Given the description of an element on the screen output the (x, y) to click on. 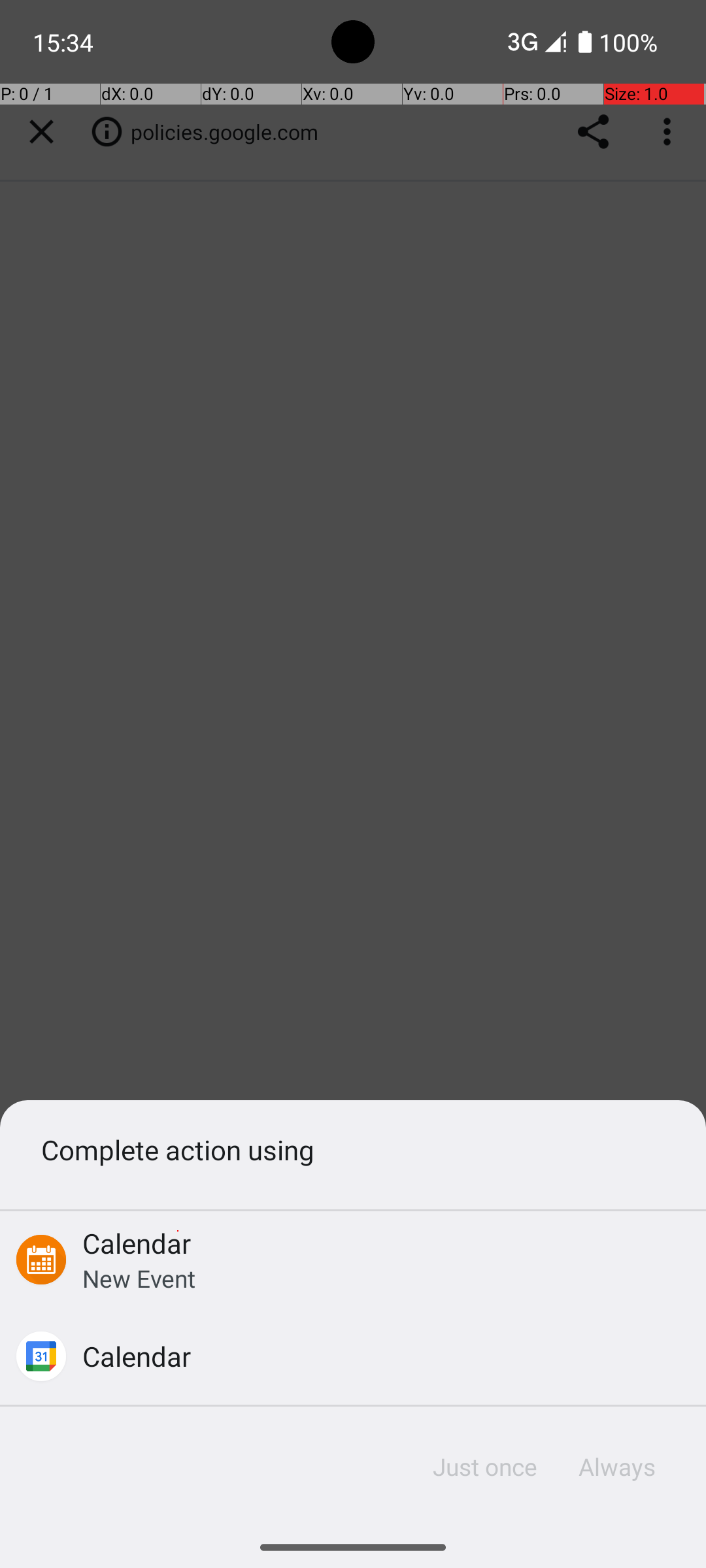
Complete action using Element type: android.widget.TextView (352, 1149)
